Given the description of an element on the screen output the (x, y) to click on. 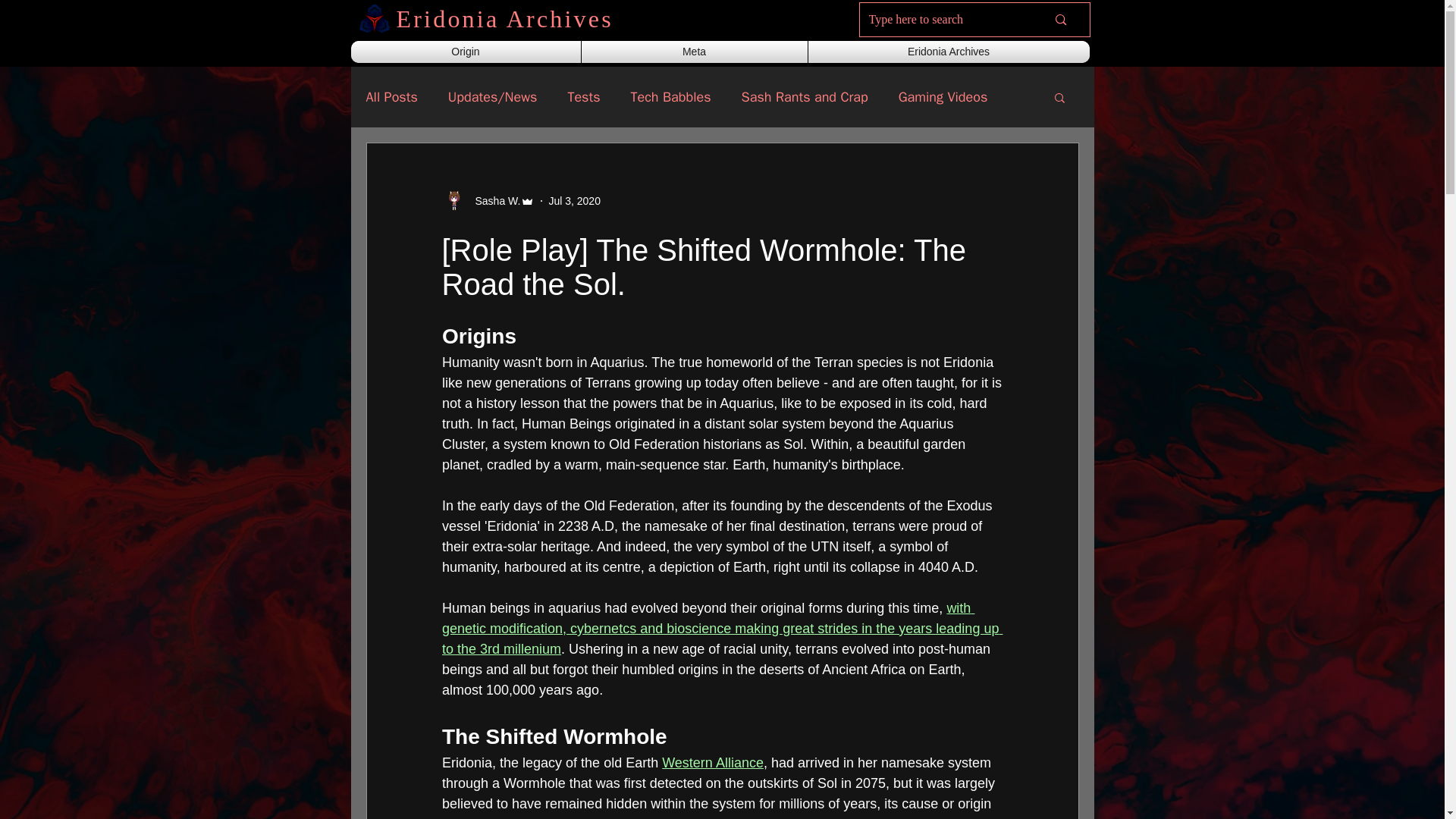
Sasha W. (492, 200)
Tests (583, 96)
Eridonia Archives (947, 51)
Sash Rants and Crap (804, 96)
Tech Babbles (670, 96)
Gaming Videos (943, 96)
All Posts (390, 96)
Jul 3, 2020 (573, 200)
Origin (465, 51)
Meta (694, 51)
